Given the description of an element on the screen output the (x, y) to click on. 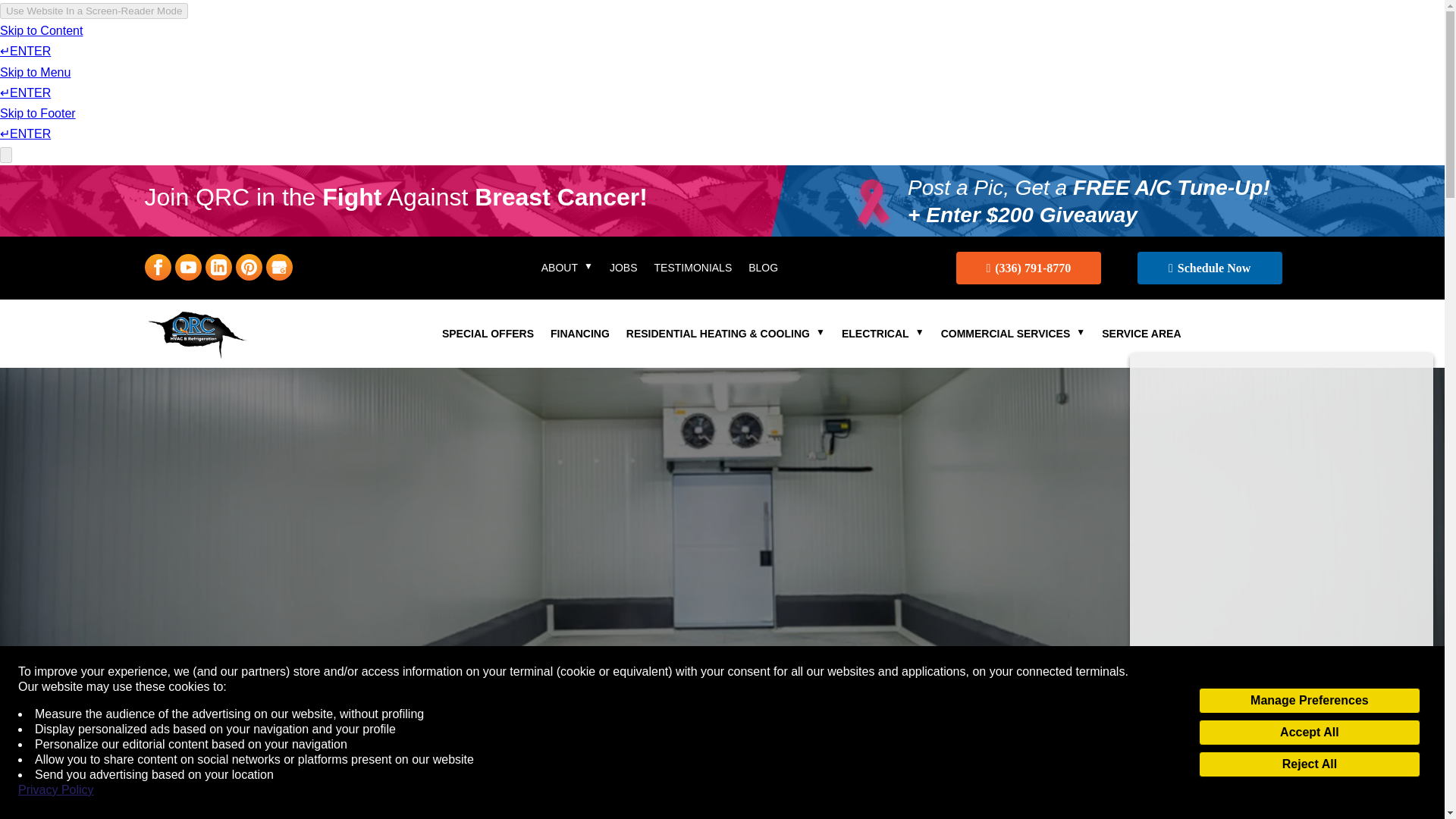
Privacy Policy (55, 789)
Schedule Now (1209, 267)
FINANCING (580, 336)
JOBS (623, 270)
SPECIAL OFFERS (488, 336)
BLOG (762, 270)
Reject All (1309, 764)
TESTIMONIALS (692, 270)
Manage Preferences (1309, 700)
Accept All (1309, 732)
ABOUT (566, 270)
